Given the description of an element on the screen output the (x, y) to click on. 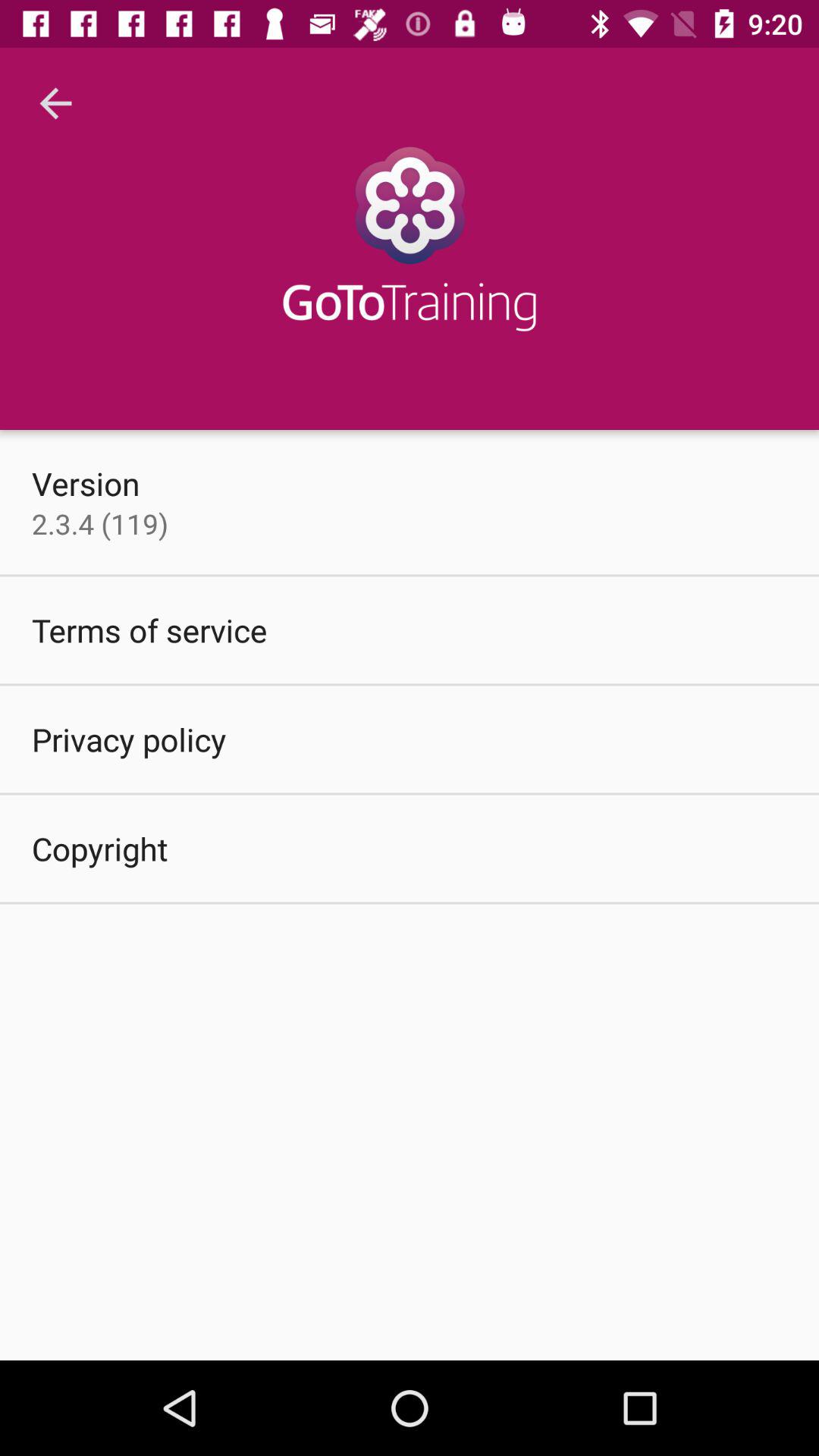
open item below 2 3 4 item (149, 629)
